Given the description of an element on the screen output the (x, y) to click on. 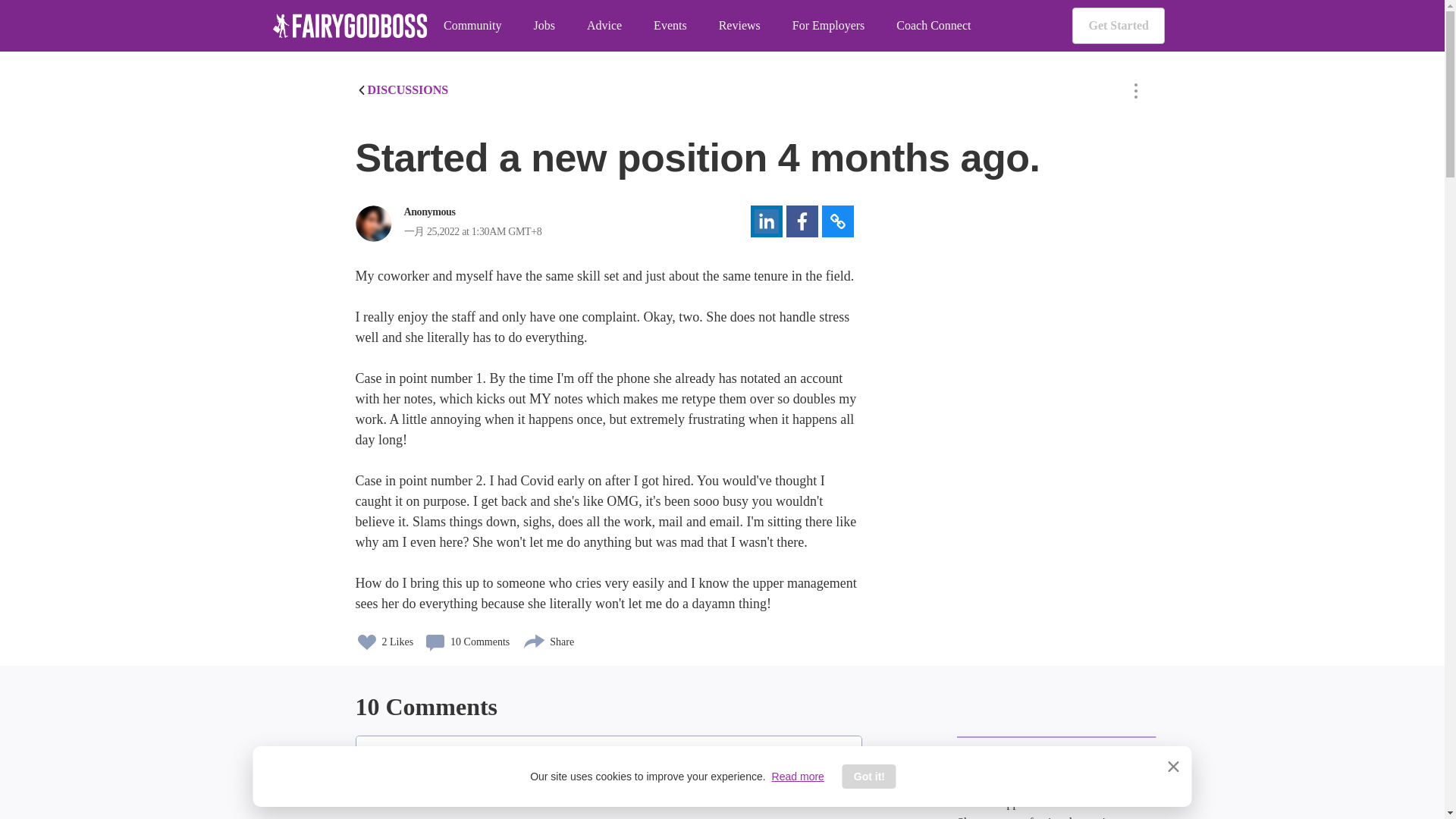
Community (472, 25)
Advice (603, 25)
Jobs (543, 25)
For Employers (828, 25)
Community (472, 25)
Reviews (739, 25)
10 Comments (466, 636)
Get Started (1117, 25)
Events (670, 25)
Jobs (543, 25)
